Given the description of an element on the screen output the (x, y) to click on. 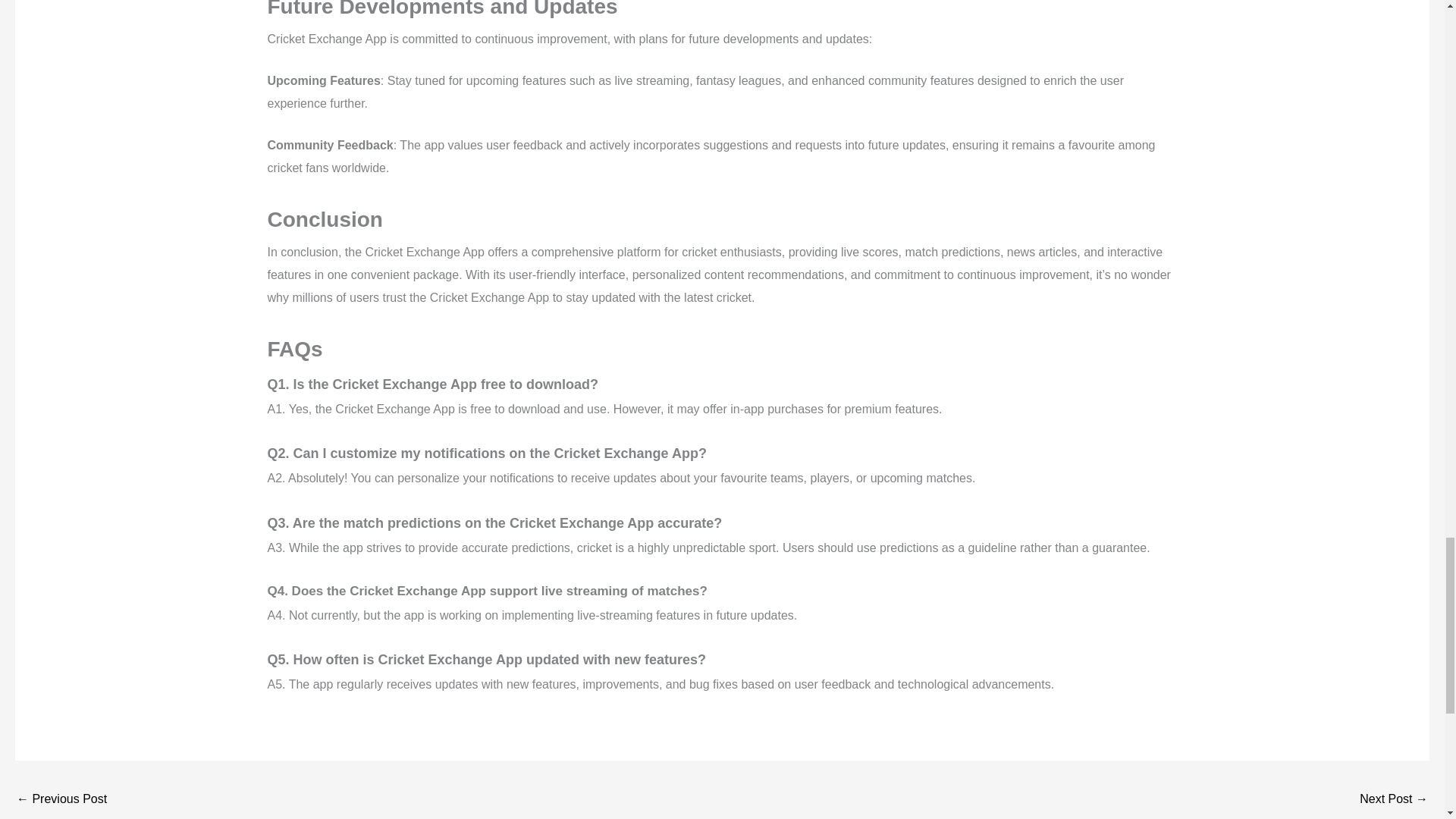
Cricket Exchange Live Score: Stay Updated with Every Ball (61, 800)
